Given the description of an element on the screen output the (x, y) to click on. 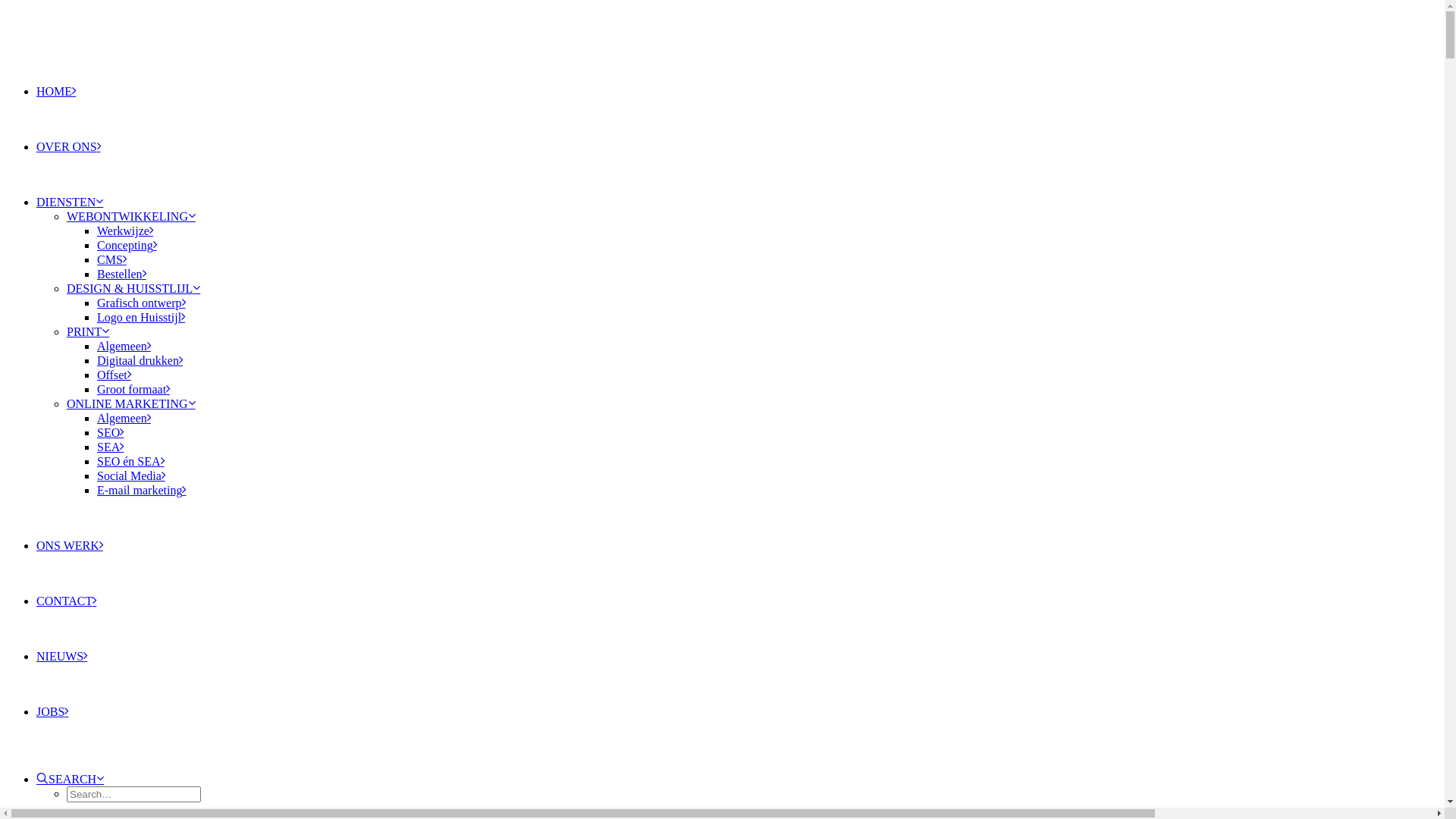
Logo en Huisstijl Element type: text (141, 316)
SEA Element type: text (110, 446)
ONS WERK Element type: text (69, 545)
WEBONTWIKKELING Element type: text (130, 216)
OVER ONS Element type: text (68, 146)
Search for: Element type: hover (133, 794)
Digitaal drukken Element type: text (139, 360)
DESIGN & HUISSTLIJL Element type: text (133, 288)
Social Media Element type: text (131, 475)
CMS Element type: text (111, 259)
DIENSTEN Element type: text (69, 201)
Algemeen Element type: text (123, 345)
SEARCH Element type: text (69, 778)
PRINT Element type: text (87, 331)
Werkwijze Element type: text (125, 230)
JOBS Element type: text (52, 711)
SEO Element type: text (110, 432)
Grafisch ontwerp Element type: text (141, 302)
Bestellen Element type: text (121, 273)
ONLINE MARKETING Element type: text (130, 403)
HOME Element type: text (55, 90)
Algemeen Element type: text (123, 417)
CONTACT Element type: text (66, 600)
E-mail marketing Element type: text (141, 489)
Offset Element type: text (114, 374)
Groot formaat Element type: text (133, 388)
Concepting Element type: text (126, 244)
NIEUWS Element type: text (61, 655)
